Given the description of an element on the screen output the (x, y) to click on. 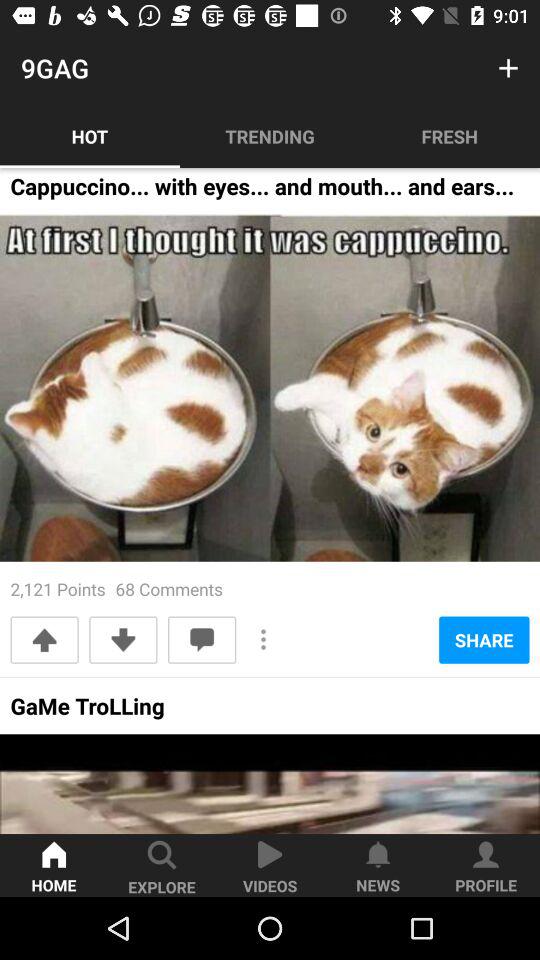
click on the downward arrow button which is above the text game trolling (123, 640)
click on message icon under first image (201, 640)
one line text below the tab hot at top (262, 192)
